Given the description of an element on the screen output the (x, y) to click on. 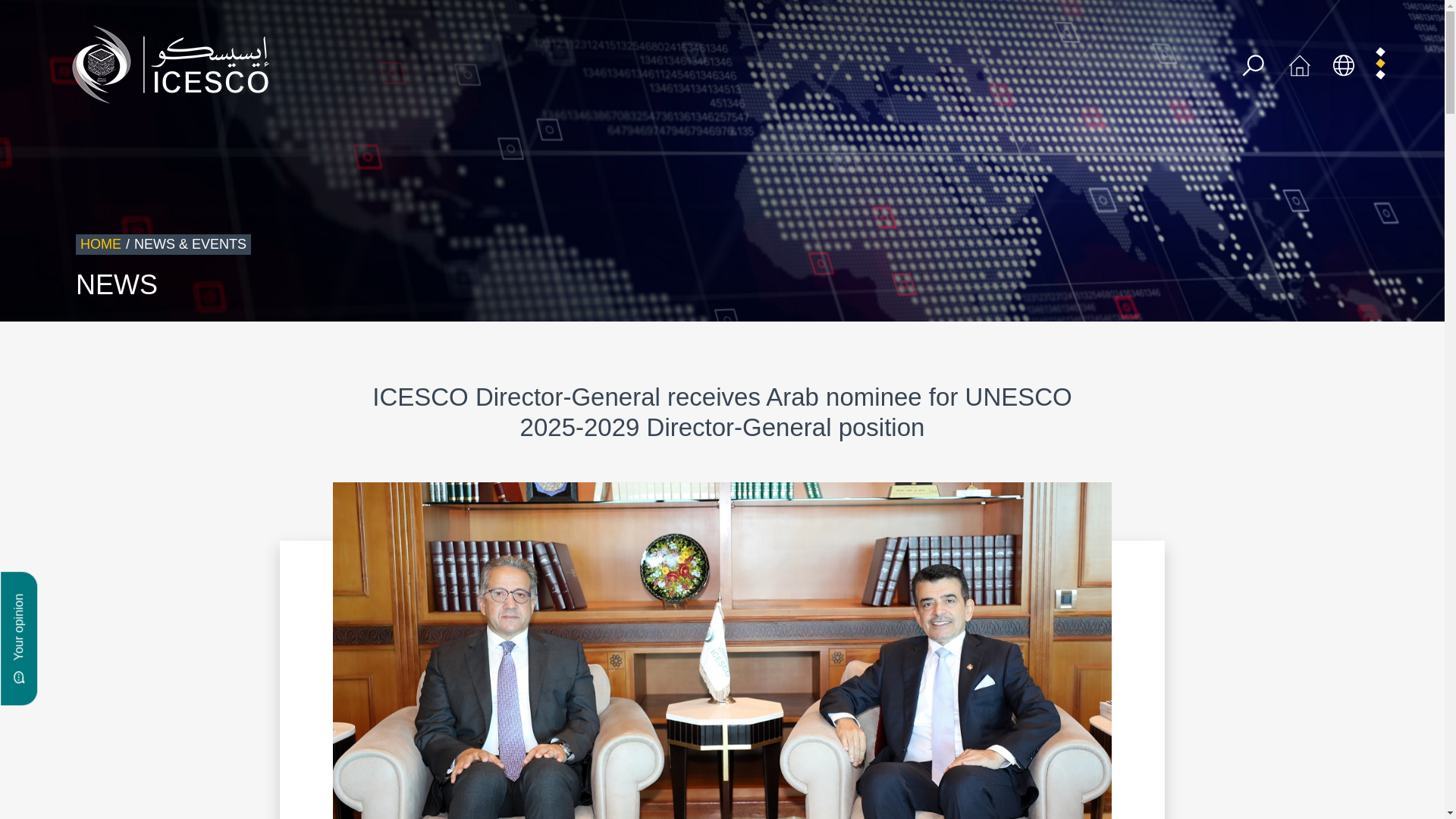
Go to Home. (100, 243)
